Given the description of an element on the screen output the (x, y) to click on. 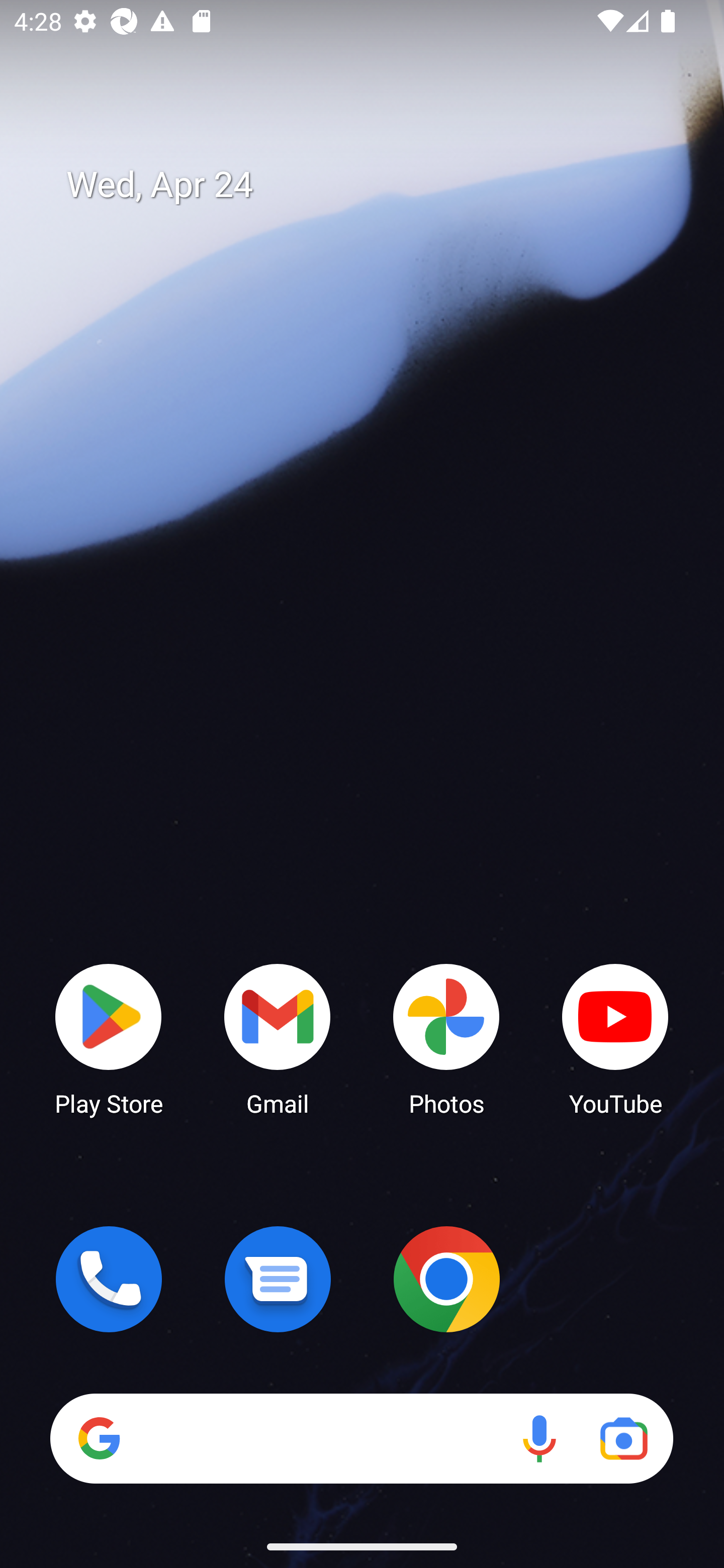
Wed, Apr 24 (375, 184)
Play Store (108, 1038)
Gmail (277, 1038)
Photos (445, 1038)
YouTube (615, 1038)
Phone (108, 1279)
Messages (277, 1279)
Chrome (446, 1279)
Search Voice search Google Lens (361, 1438)
Voice search (539, 1438)
Google Lens (623, 1438)
